Given the description of an element on the screen output the (x, y) to click on. 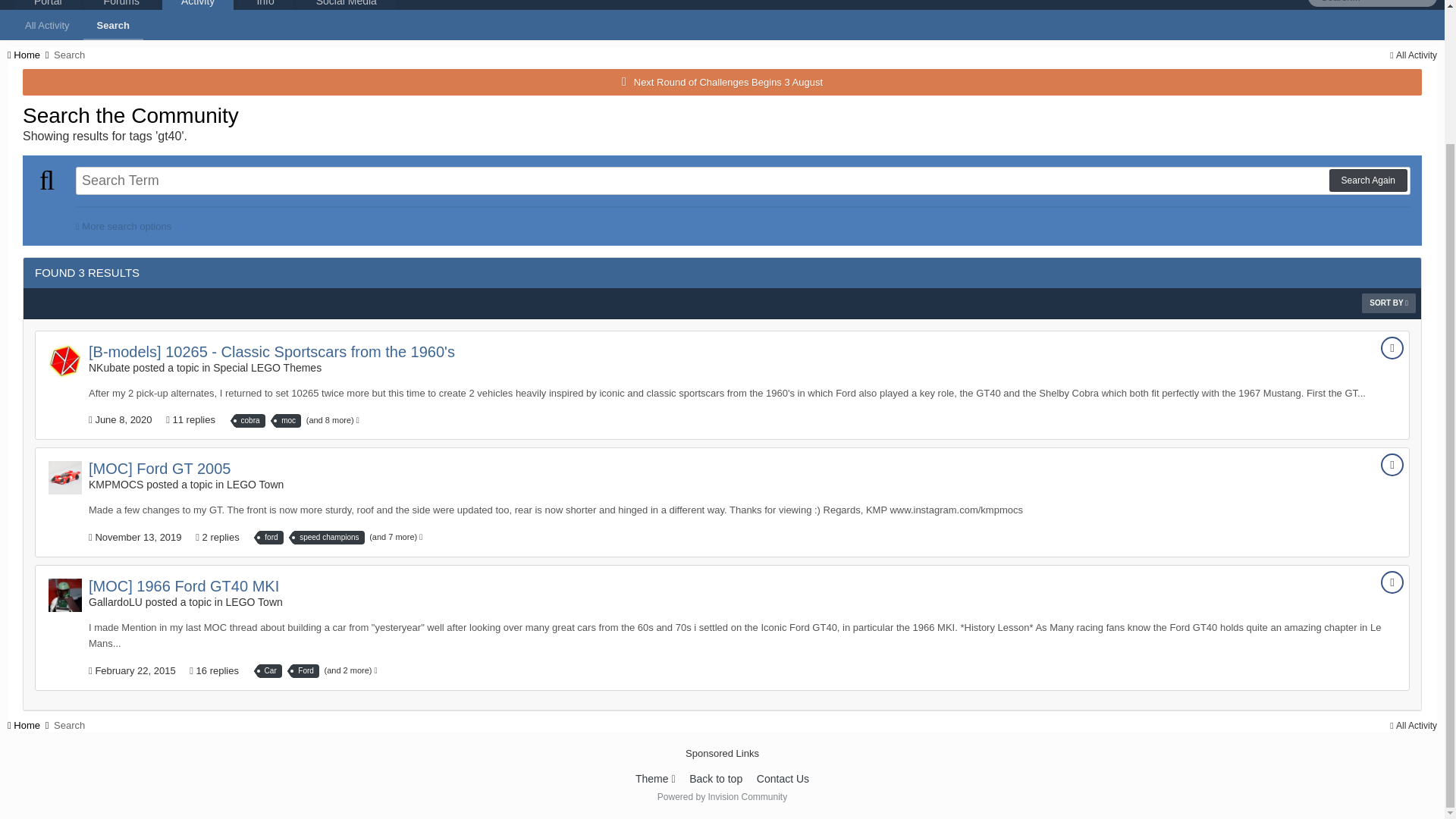
Forums (121, 7)
Portal (47, 7)
Go to NKubate's profile (64, 360)
Find other content tagged with 'cobra' (249, 420)
Home (28, 54)
Topic (1391, 464)
Find other content tagged with 'moc' (288, 420)
Topic (1391, 347)
